Given the description of an element on the screen output the (x, y) to click on. 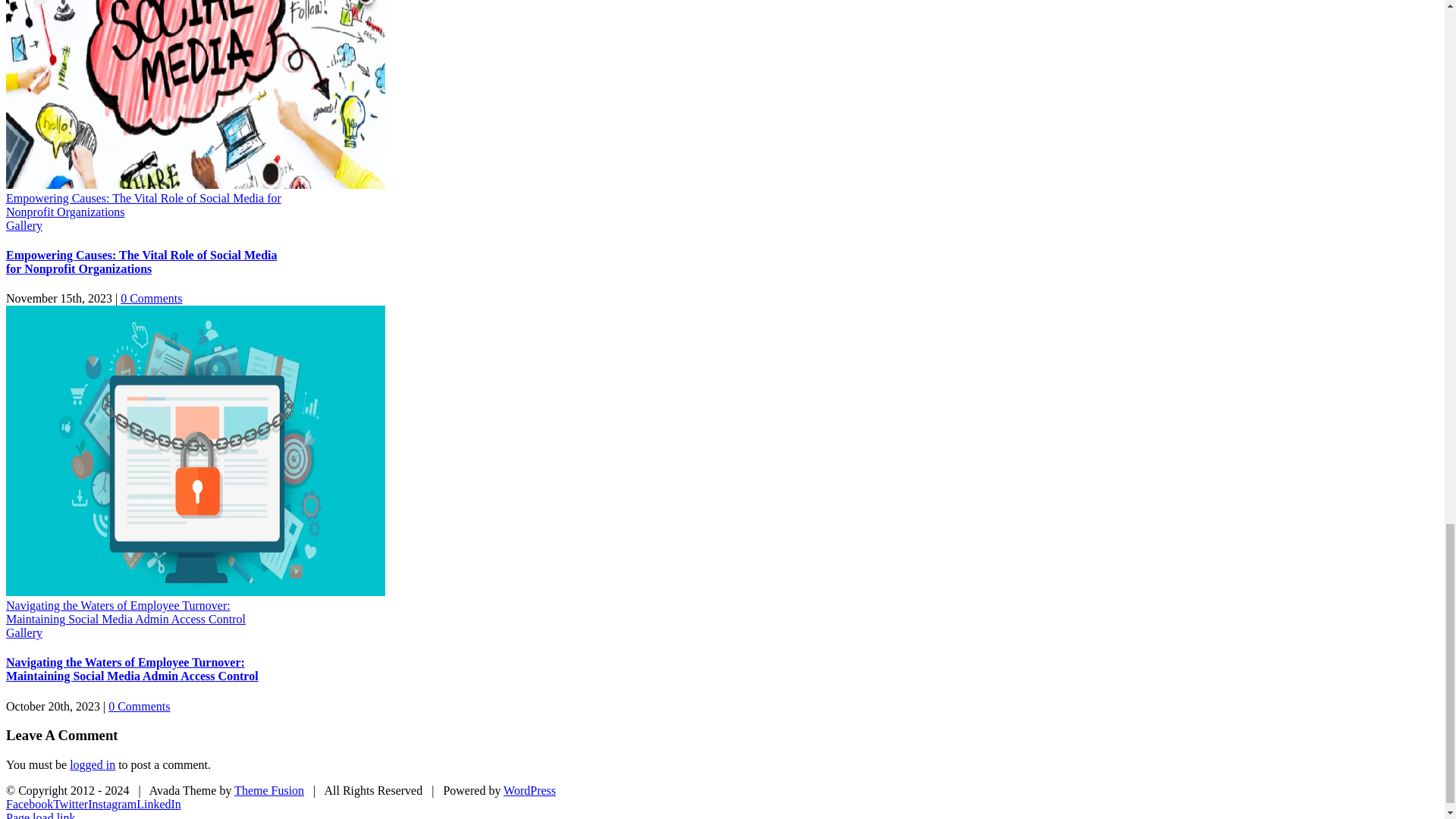
Gallery (23, 225)
Twitter (69, 803)
Instagram (111, 803)
Facebook (28, 803)
